Given the description of an element on the screen output the (x, y) to click on. 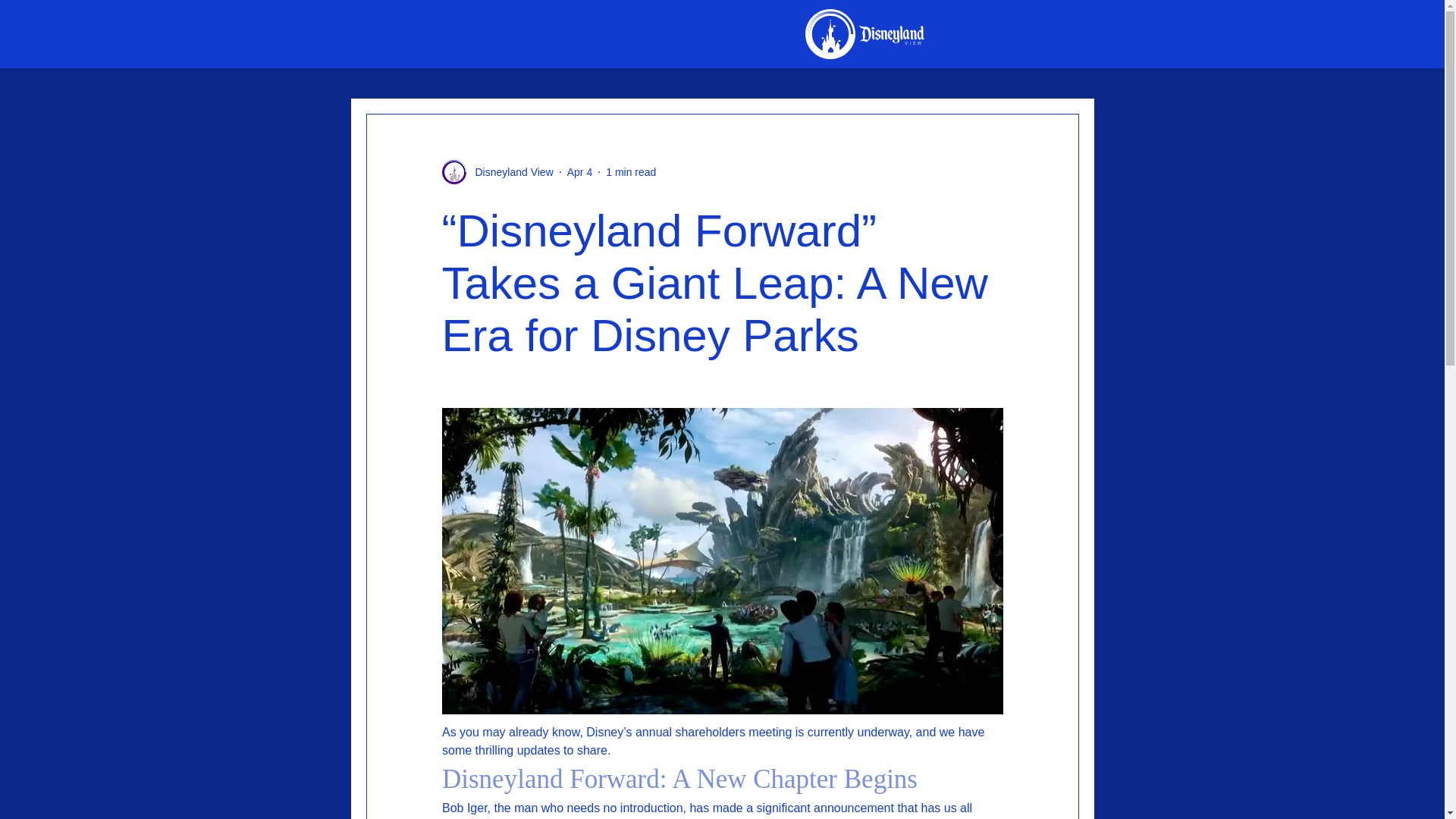
1 min read (630, 171)
Disneyland View (509, 171)
Apr 4 (579, 171)
